Given the description of an element on the screen output the (x, y) to click on. 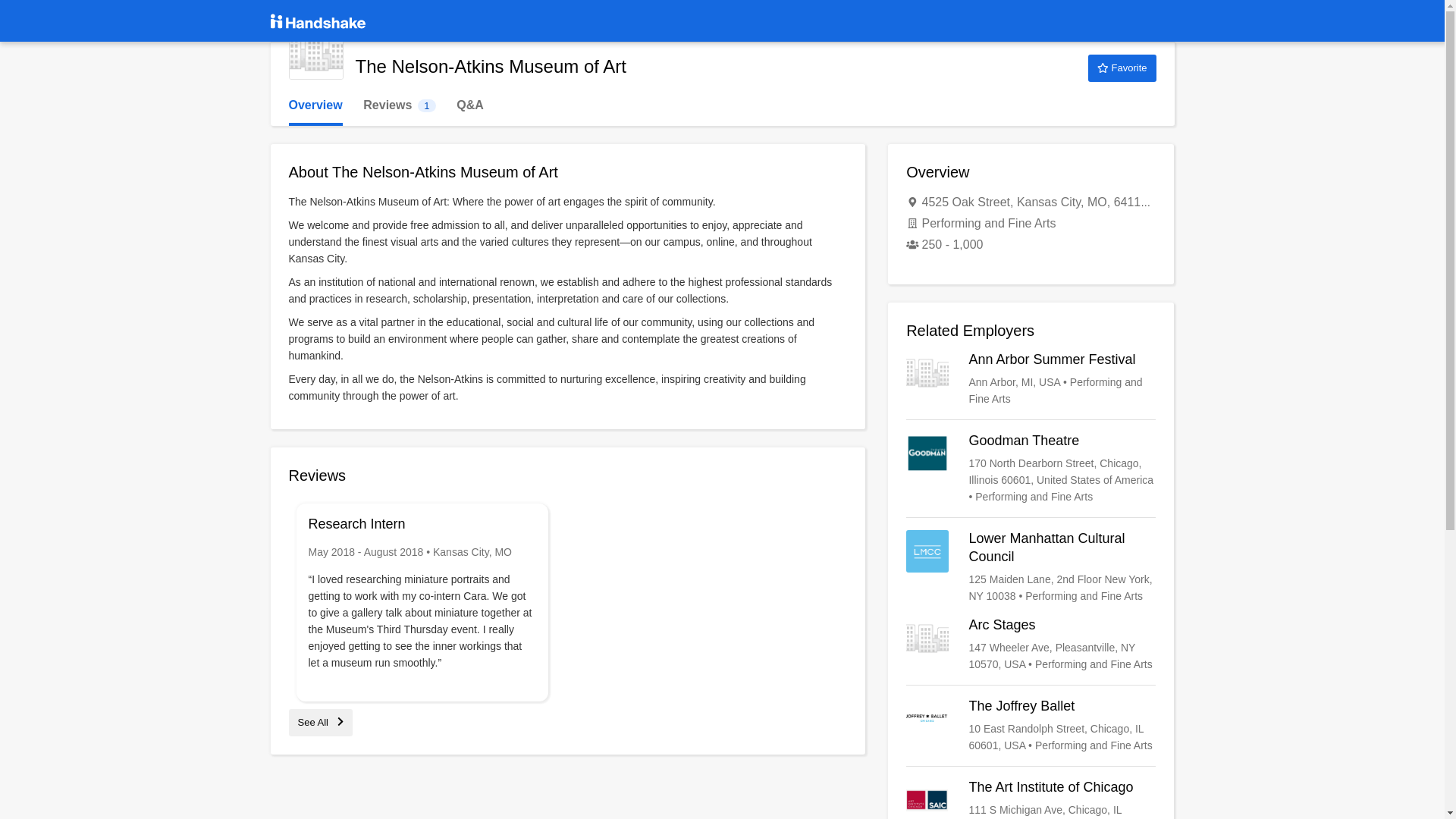
Overview (315, 105)
Ann Arbor Summer Festival (1030, 379)
The Nelson-Atkins Museum of Art (315, 52)
Arc Stages (1030, 644)
See All (320, 722)
Goodman Theatre (398, 105)
Lower Manhattan Cultural Council (1030, 468)
The Joffrey Ballet (1030, 566)
The Art Institute of Chicago (1030, 725)
Favorite (1030, 798)
